Given the description of an element on the screen output the (x, y) to click on. 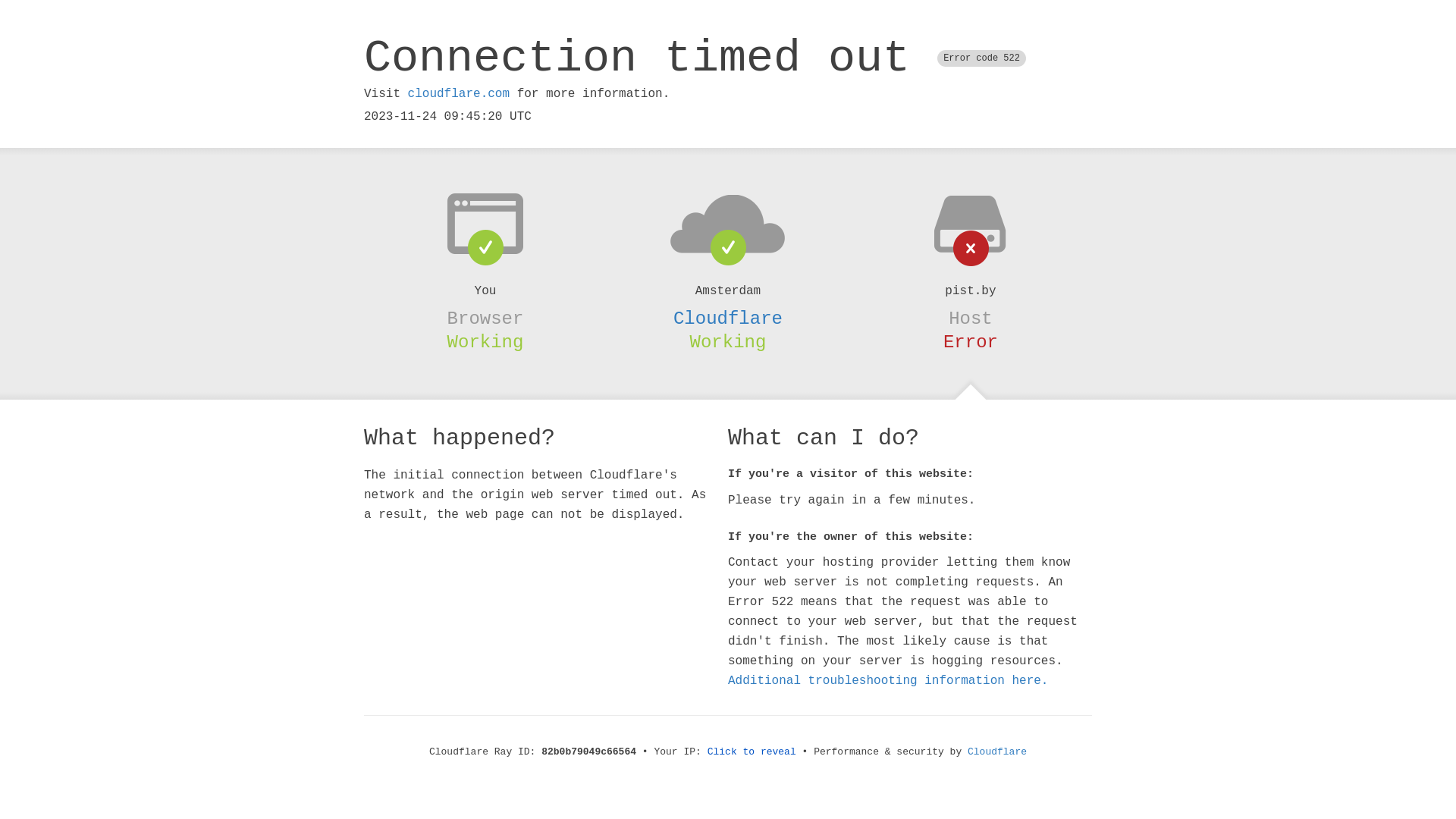
Click to reveal Element type: text (751, 751)
Additional troubleshooting information here. Element type: text (888, 680)
Cloudflare Element type: text (996, 751)
Cloudflare Element type: text (727, 318)
cloudflare.com Element type: text (458, 93)
